Given the description of an element on the screen output the (x, y) to click on. 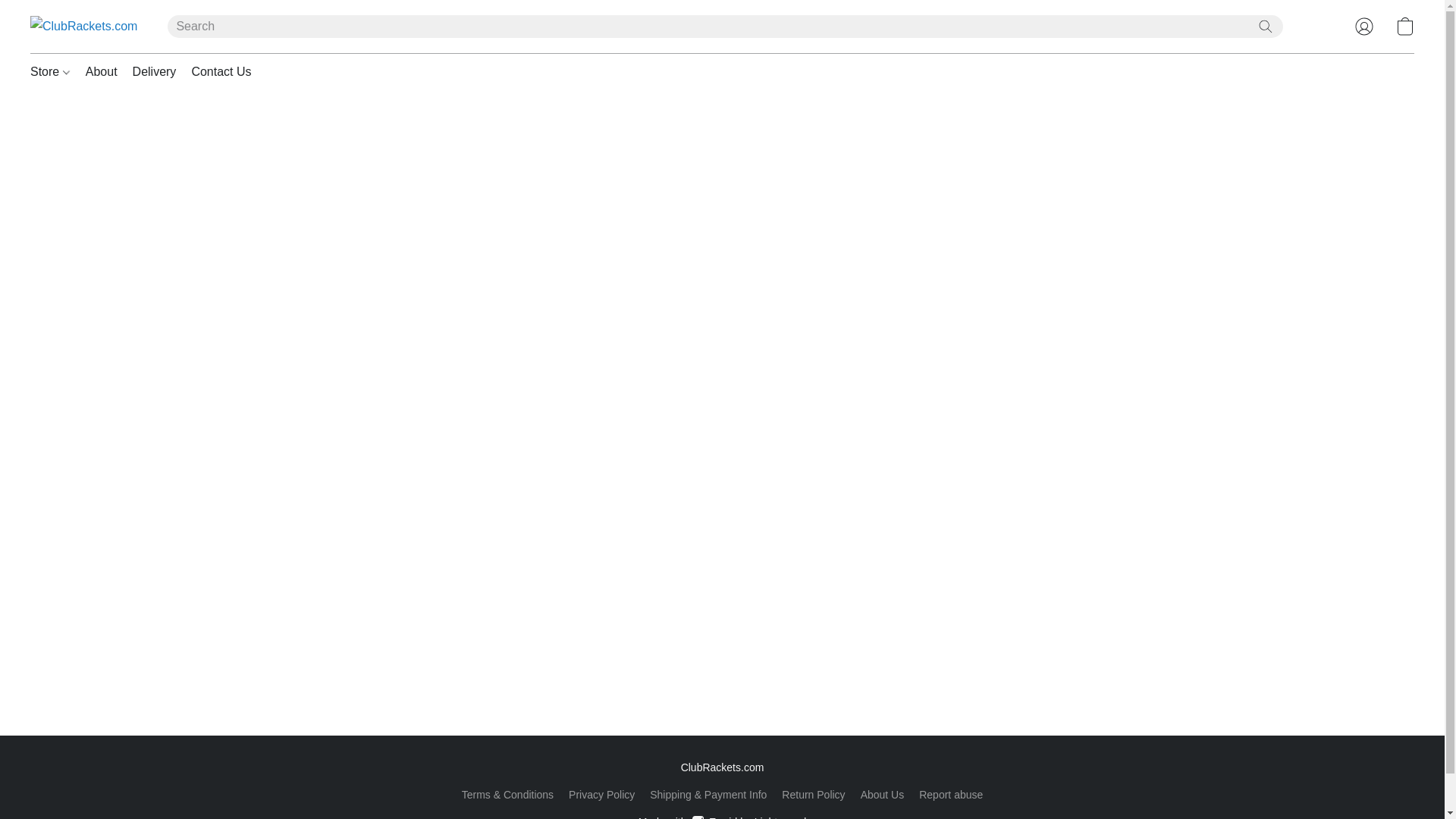
About Us (882, 794)
Report abuse (950, 794)
Store (54, 71)
Contact Us (216, 71)
Go to your shopping cart (1404, 26)
Privacy Policy (601, 794)
Return Policy (812, 794)
About (101, 71)
Delivery (154, 71)
